Given the description of an element on the screen output the (x, y) to click on. 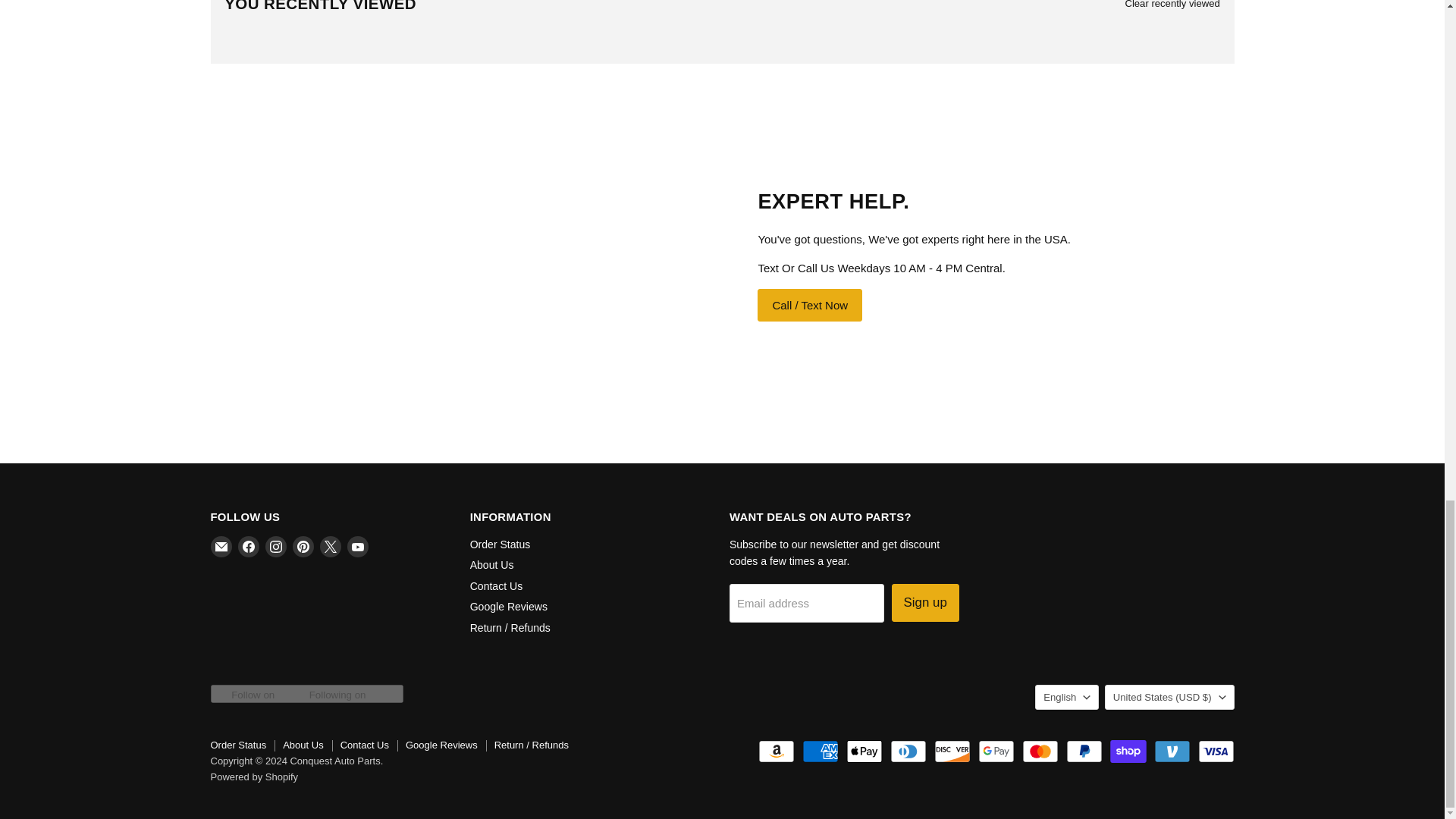
Email Conquest Auto Parts (221, 546)
Google Pay (996, 751)
Find us on Instagram (275, 546)
Instagram (275, 546)
American Express (820, 751)
Apple Pay (863, 751)
Diners Club (907, 751)
Discover (952, 751)
Facebook (248, 546)
X (330, 546)
YouTube (357, 546)
Pinterest (303, 546)
Amazon (776, 751)
Clear recently viewed (1172, 4)
Email (221, 546)
